Given the description of an element on the screen output the (x, y) to click on. 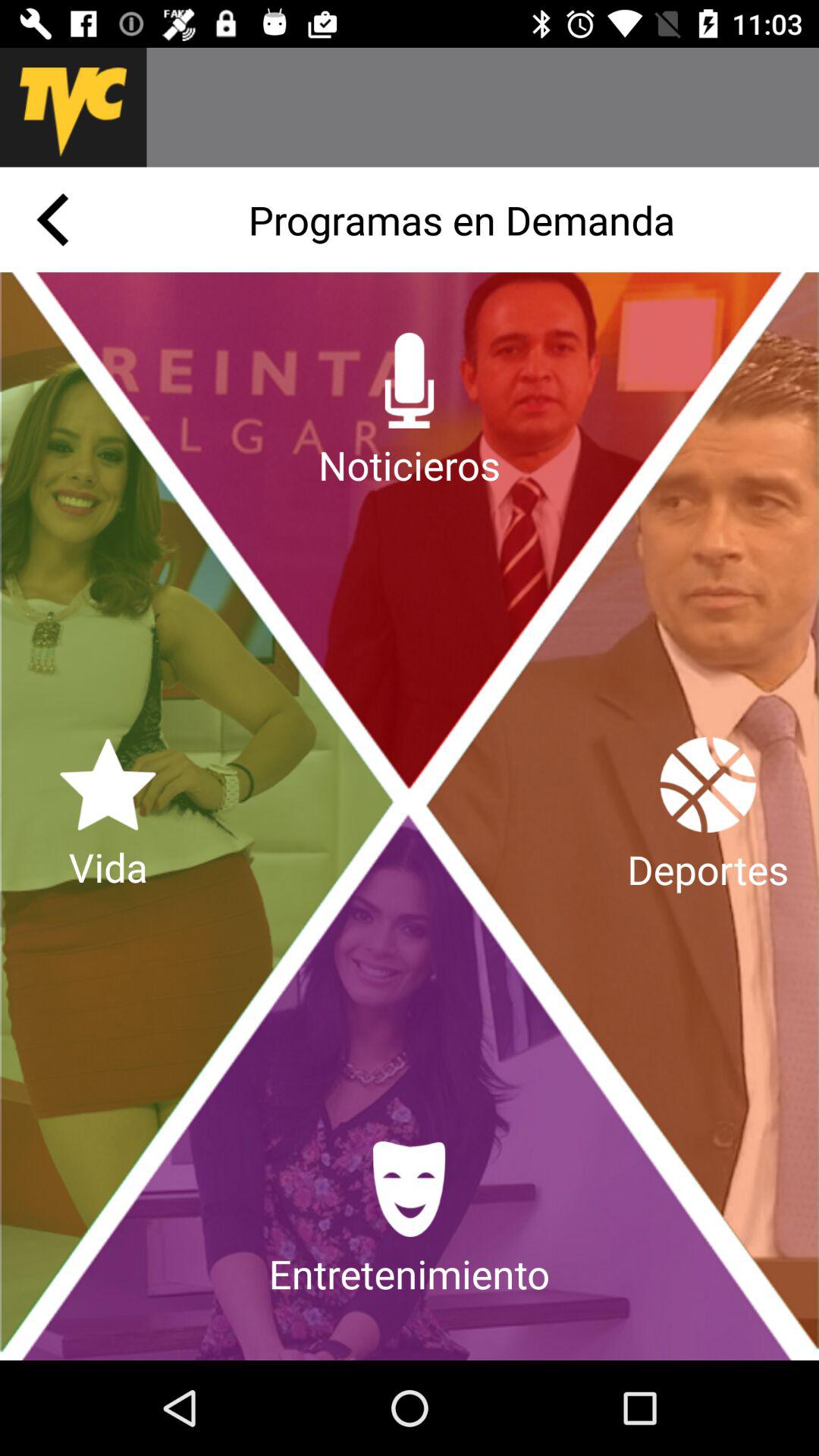
launch the app on the left (107, 815)
